Given the description of an element on the screen output the (x, y) to click on. 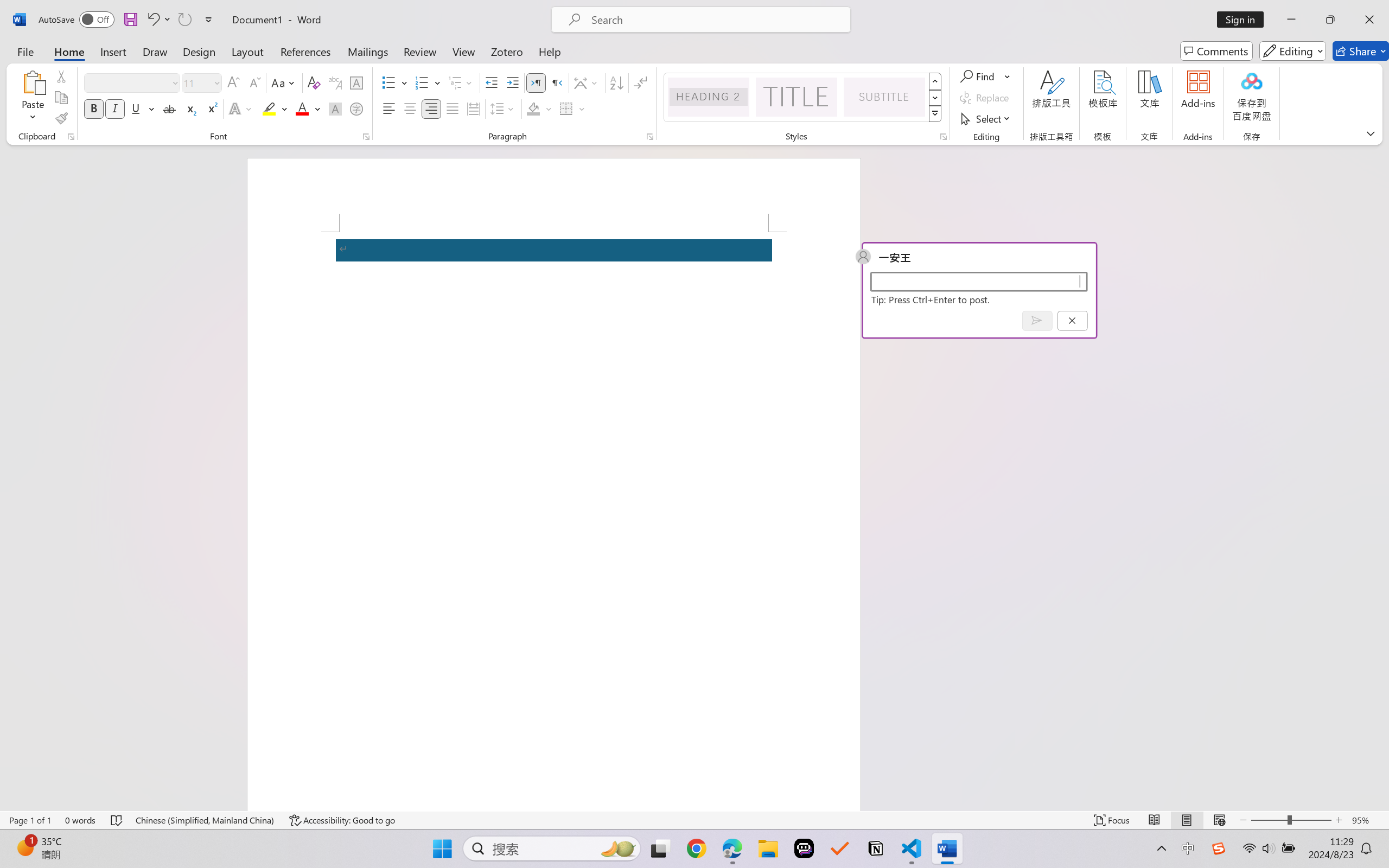
Right-to-Left (556, 82)
Shading No Color (533, 108)
Undo (158, 19)
